Given the description of an element on the screen output the (x, y) to click on. 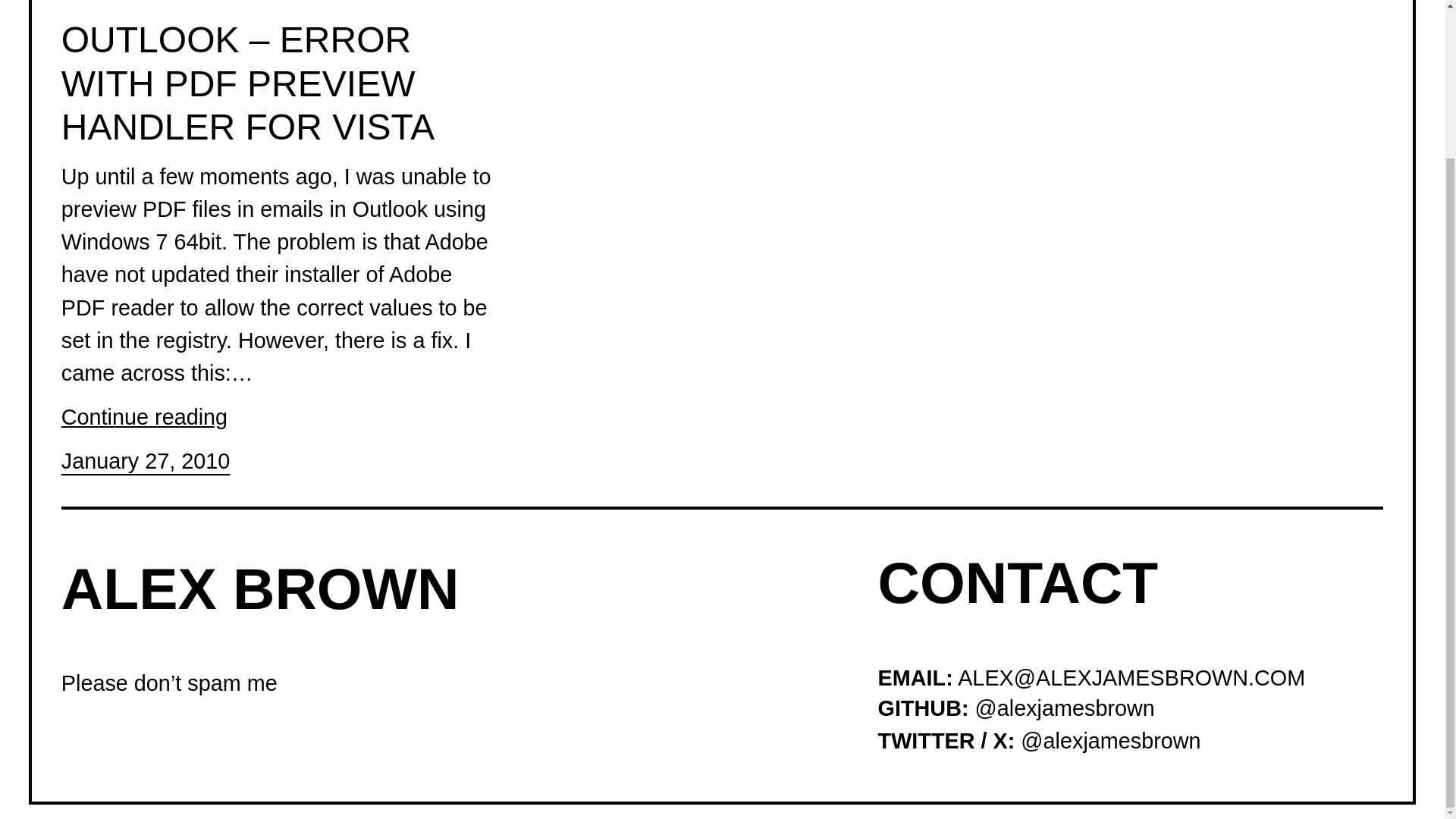
Continue reading (144, 417)
ALEX BROWN (260, 588)
January 27, 2010 (145, 460)
